Given the description of an element on the screen output the (x, y) to click on. 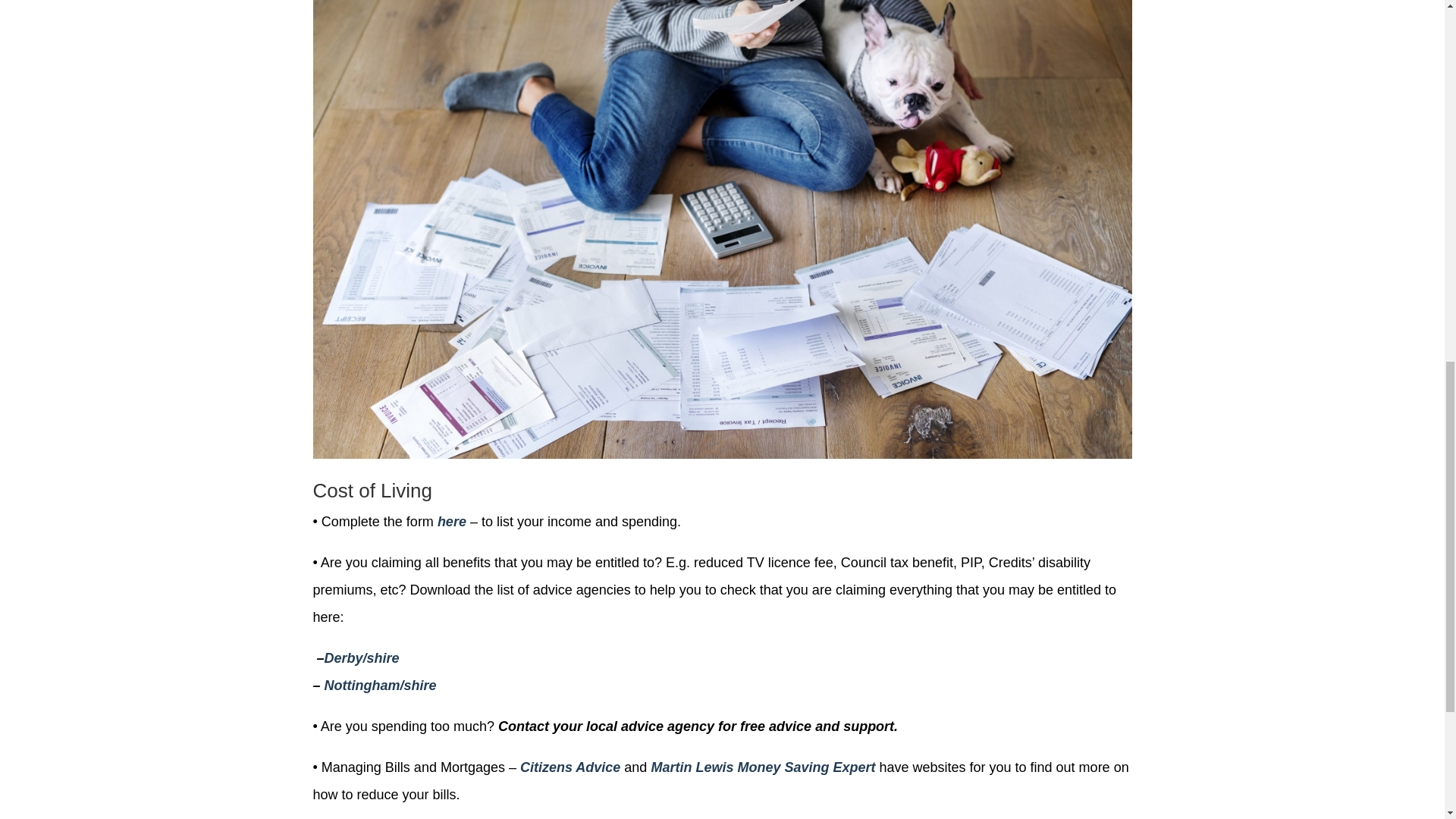
Martin Lewis Money Saving Expert (762, 767)
here (451, 521)
Citizens Advice (569, 767)
